Given the description of an element on the screen output the (x, y) to click on. 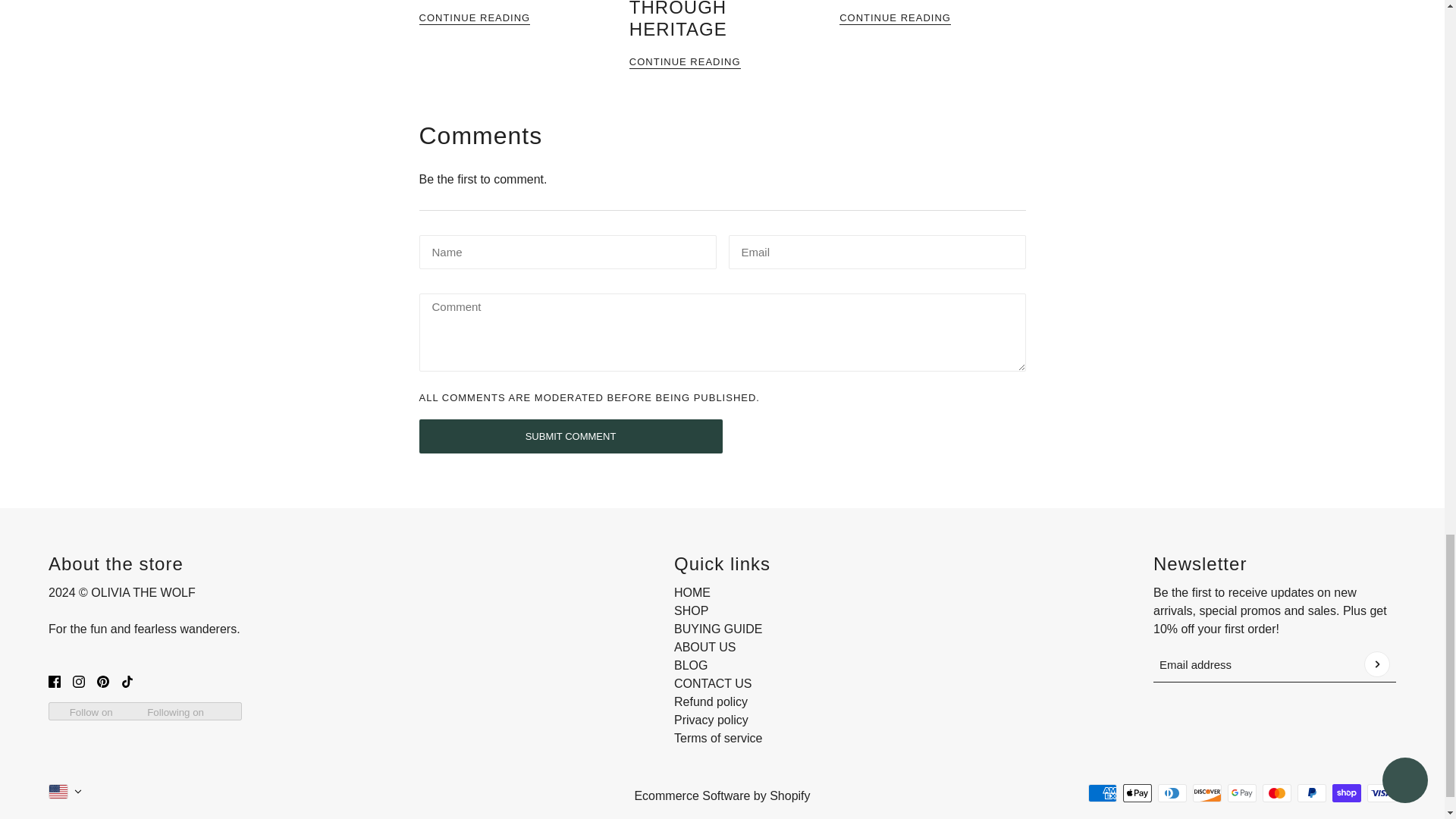
HOME (692, 592)
CONTACT US (713, 683)
Refund policy (711, 701)
Terms of service (717, 738)
SHOP (690, 610)
ABOUT US (705, 646)
Privacy policy (711, 719)
CONTINUE READING (932, 17)
CONTINUE READING (511, 17)
CONTINUE READING (721, 61)
